Given the description of an element on the screen output the (x, y) to click on. 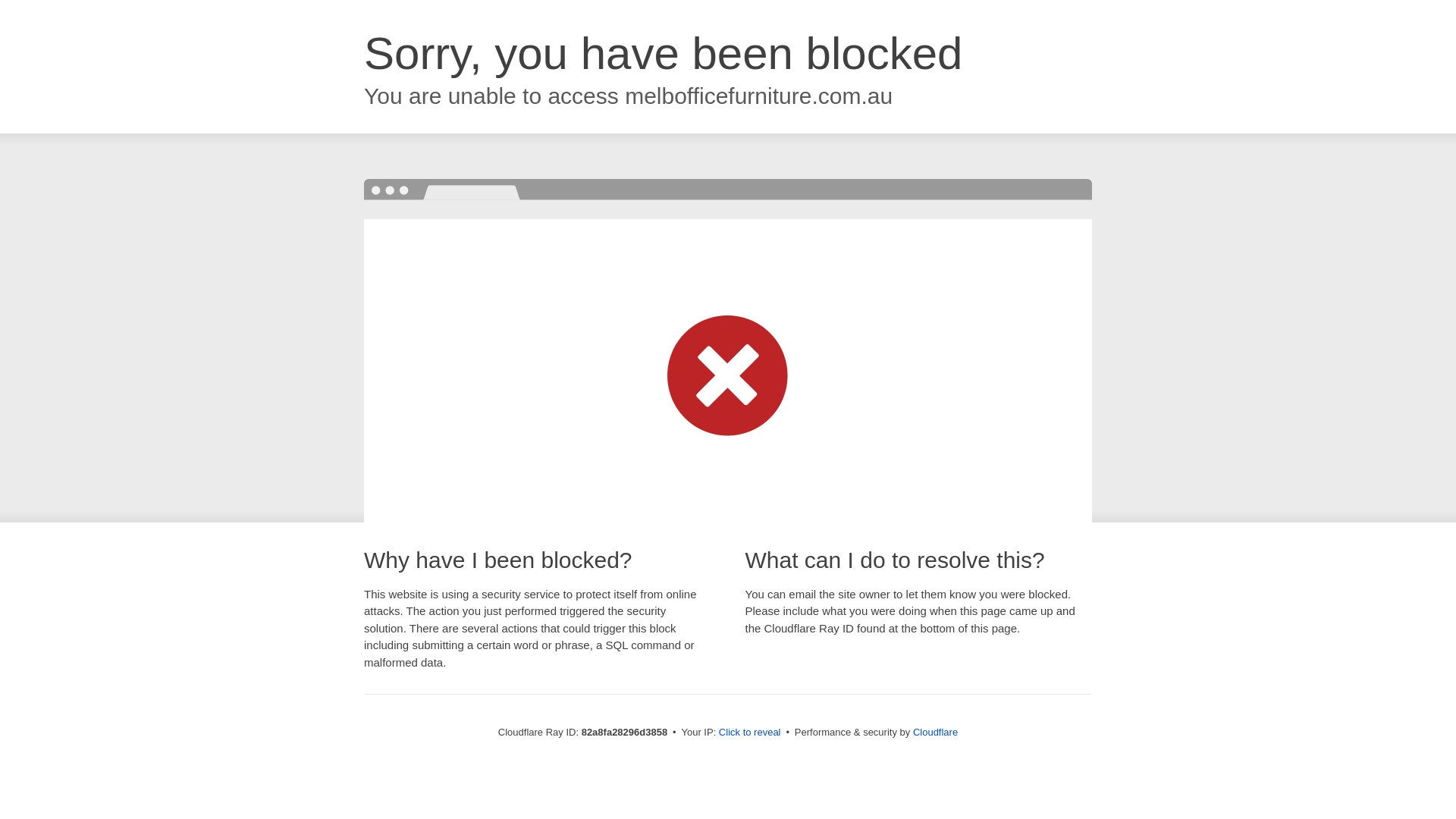
Click to reveal Element type: text (749, 732)
Cloudflare Element type: text (935, 731)
